Given the description of an element on the screen output the (x, y) to click on. 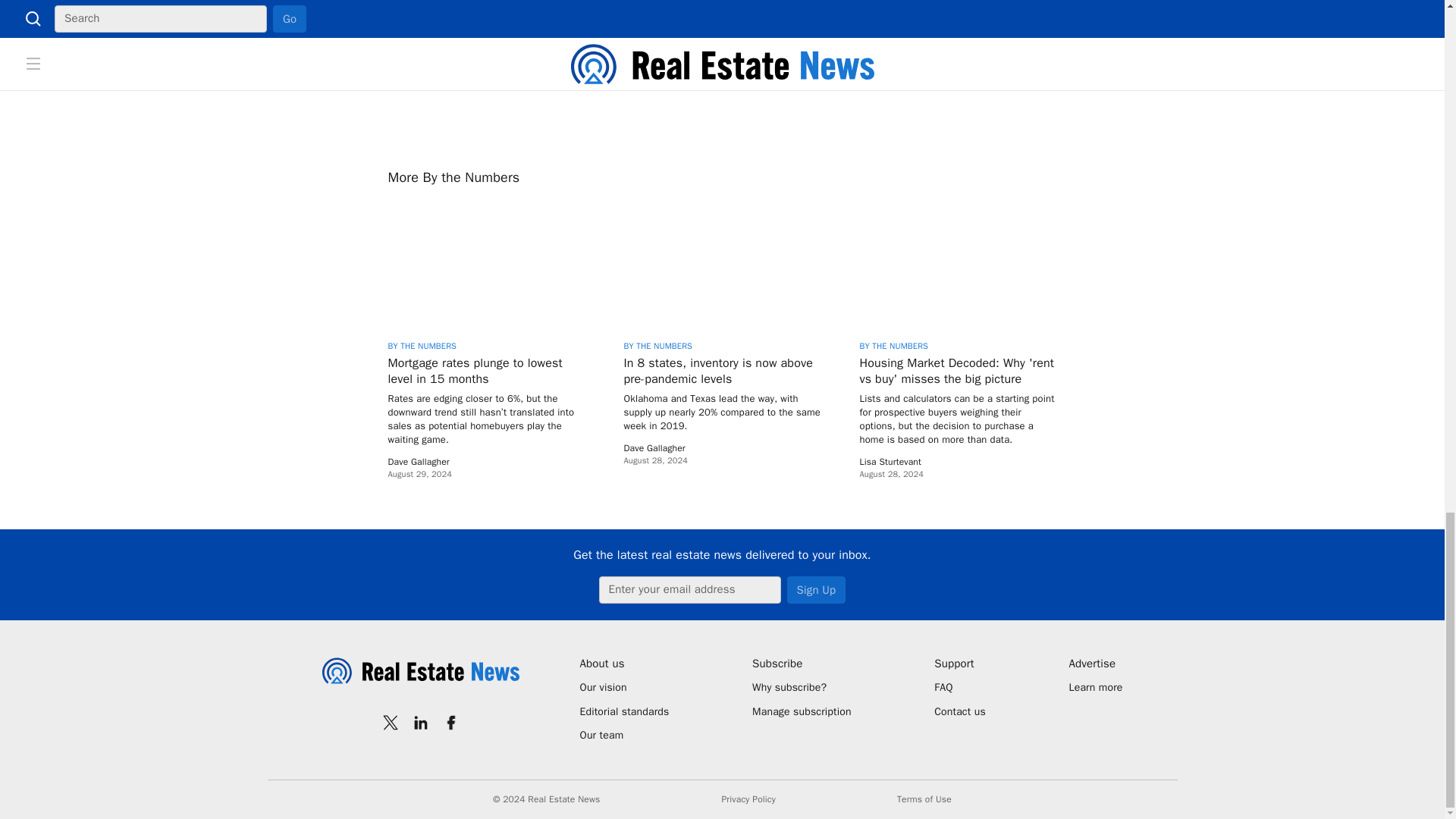
Our team (623, 735)
Manage subscription (801, 711)
BY THE NUMBERS (894, 345)
Learn more (1095, 687)
Dave Gallagher (418, 461)
BY THE NUMBERS (422, 345)
Why subscribe? (801, 687)
Our vision (623, 687)
Terms of Use (924, 799)
Sign Up (816, 589)
